Given the description of an element on the screen output the (x, y) to click on. 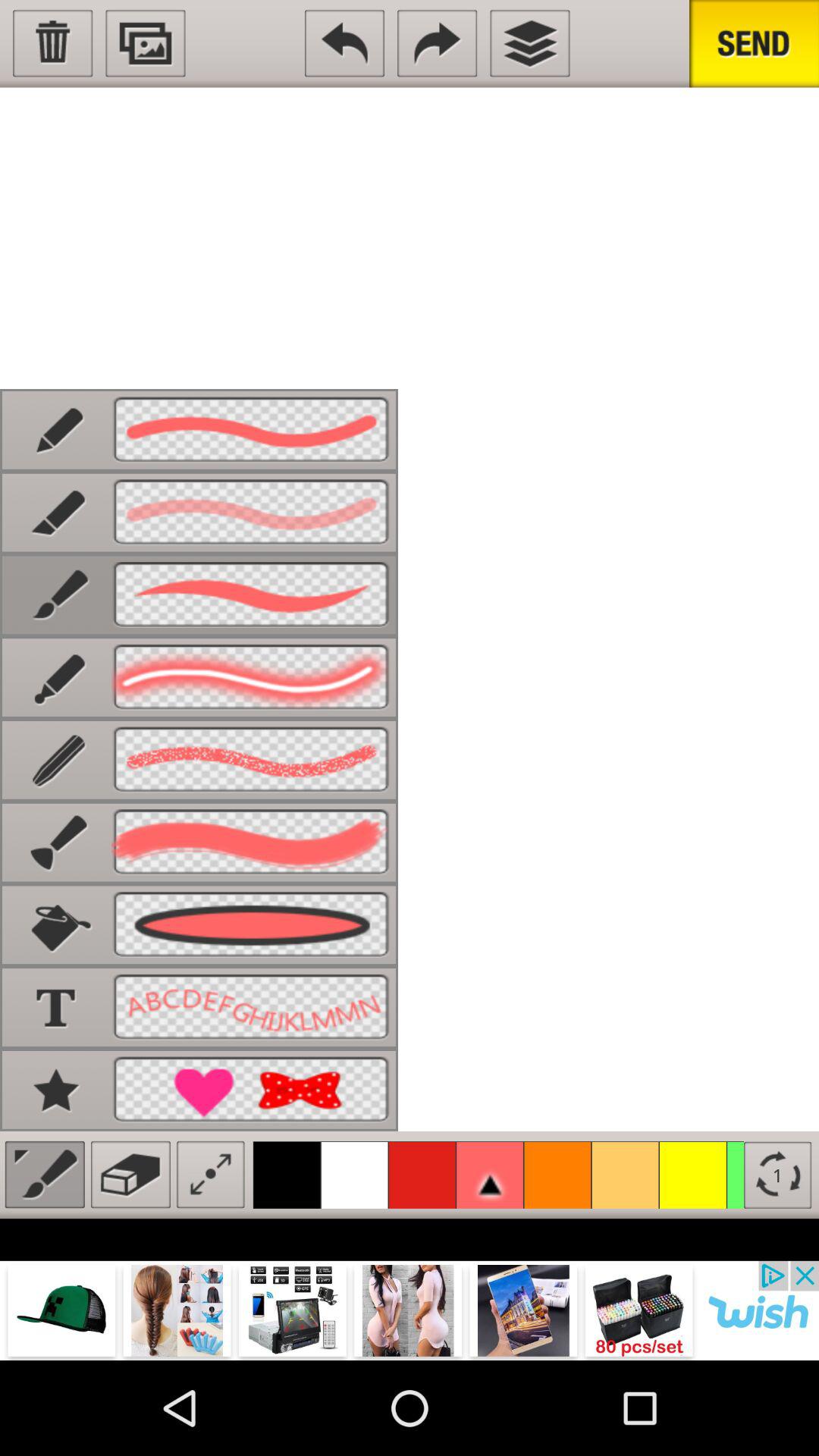
toggle eraser (130, 1174)
